Given the description of an element on the screen output the (x, y) to click on. 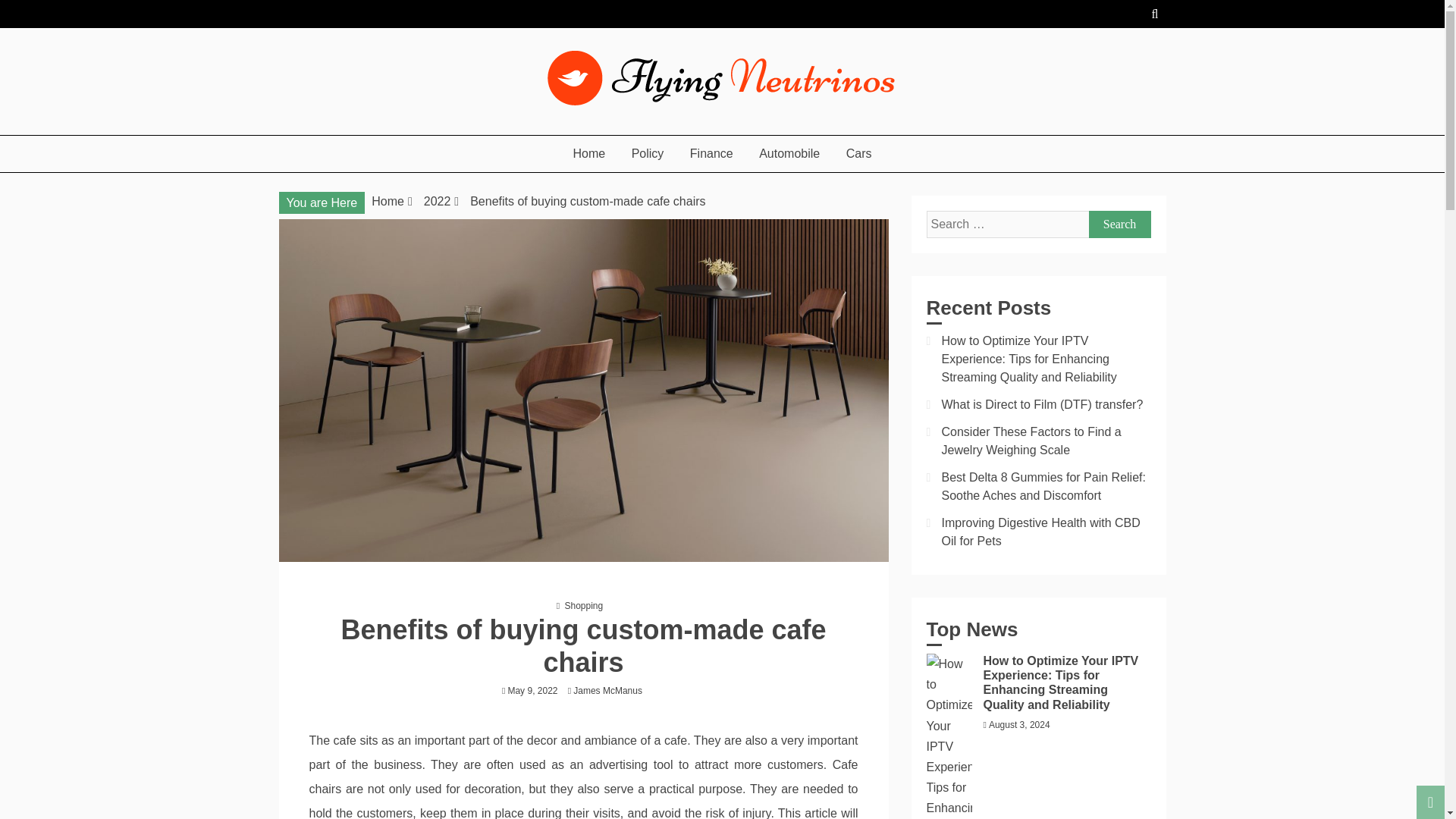
Benefits of buying custom-made cafe chairs (587, 201)
James McManus (611, 690)
Shopping (583, 605)
Improving Digestive Health with CBD Oil for Pets (1041, 531)
Cars (858, 153)
May 9, 2022 (531, 690)
2022 (437, 201)
Search (1120, 224)
Home (387, 201)
Search (1120, 224)
